Given the description of an element on the screen output the (x, y) to click on. 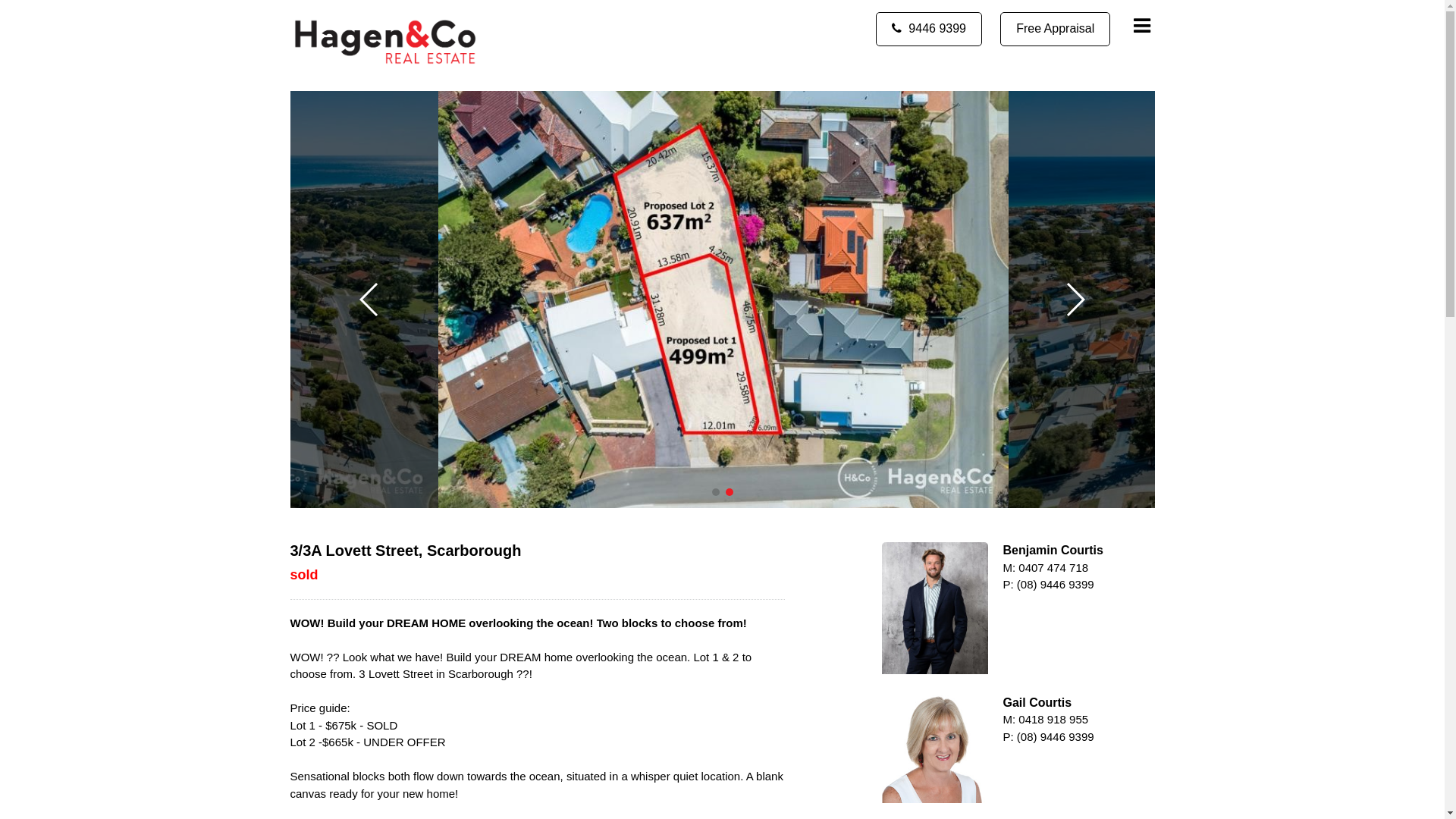
Benjamin Courtis Element type: hover (934, 608)
Hagen & Co Real Estate Element type: hover (384, 41)
Free Appraisal Element type: text (1055, 29)
Gail Courtis Element type: hover (934, 748)
  9446 9399 Element type: text (928, 29)
